Given the description of an element on the screen output the (x, y) to click on. 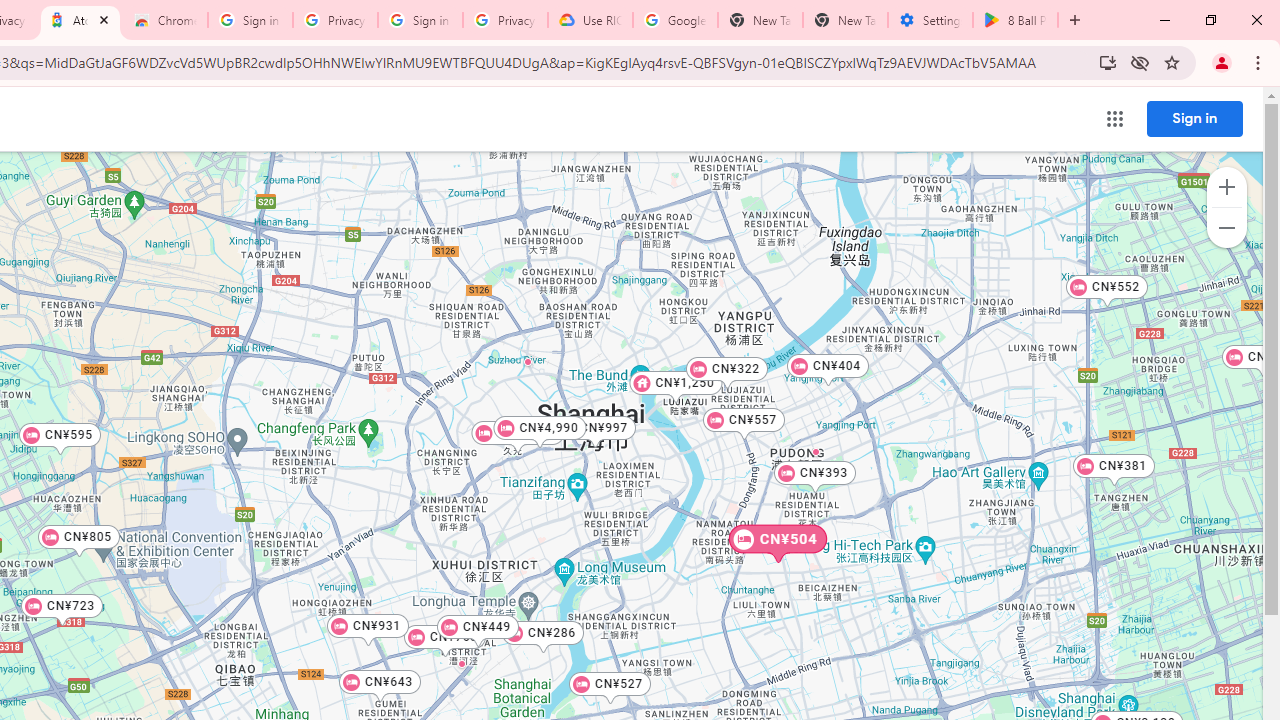
Zoom in map (1226, 187)
8 Ball Pool - Apps on Google Play (1015, 20)
Parkline Century Park Hotel Shanghai (815, 451)
